Given the description of an element on the screen output the (x, y) to click on. 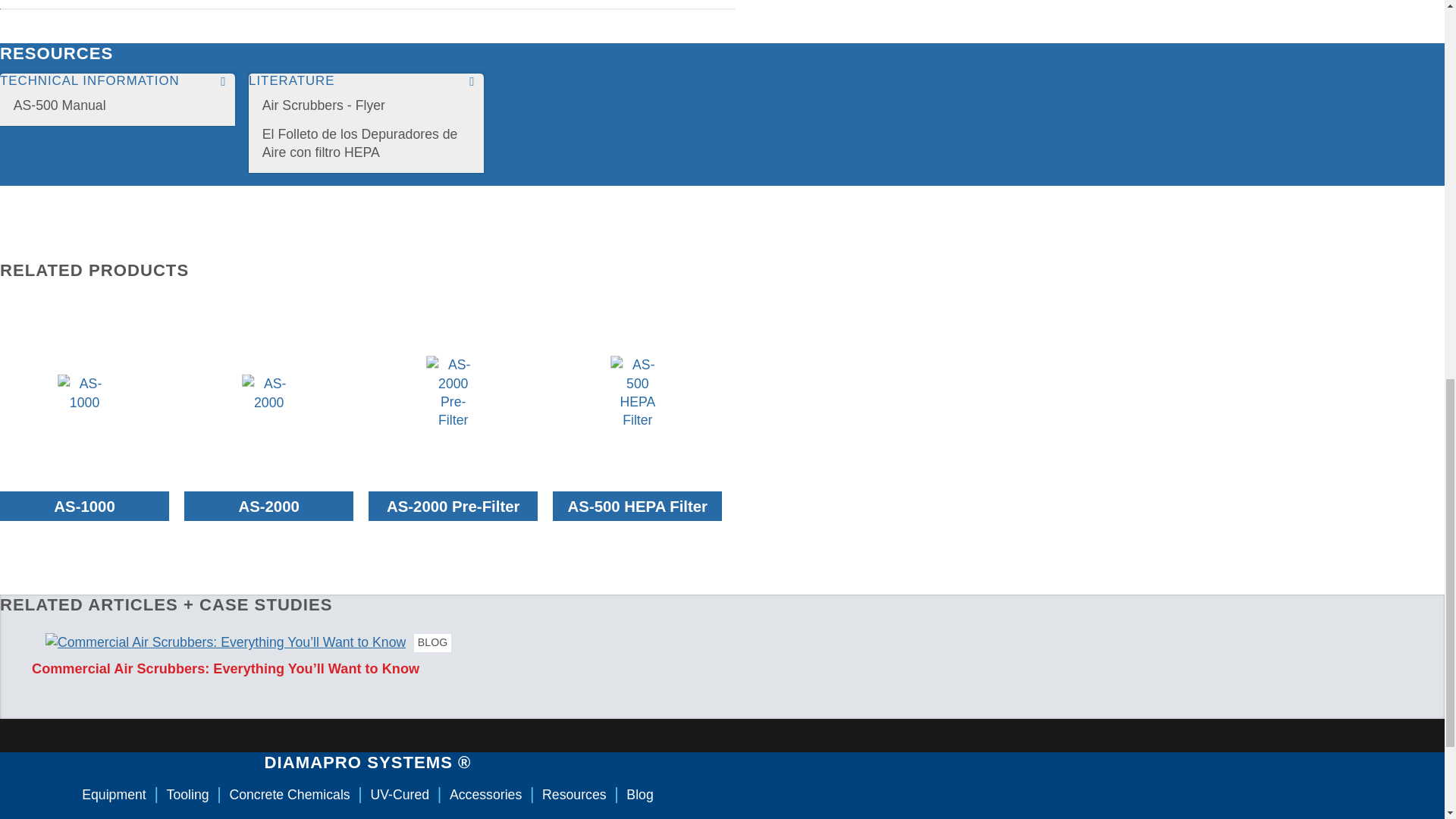
AS-2000 (268, 506)
AS-1000 (84, 506)
AS-500 HEPA Filter (637, 506)
AS-2000 Pre-Filter (453, 506)
